Given the description of an element on the screen output the (x, y) to click on. 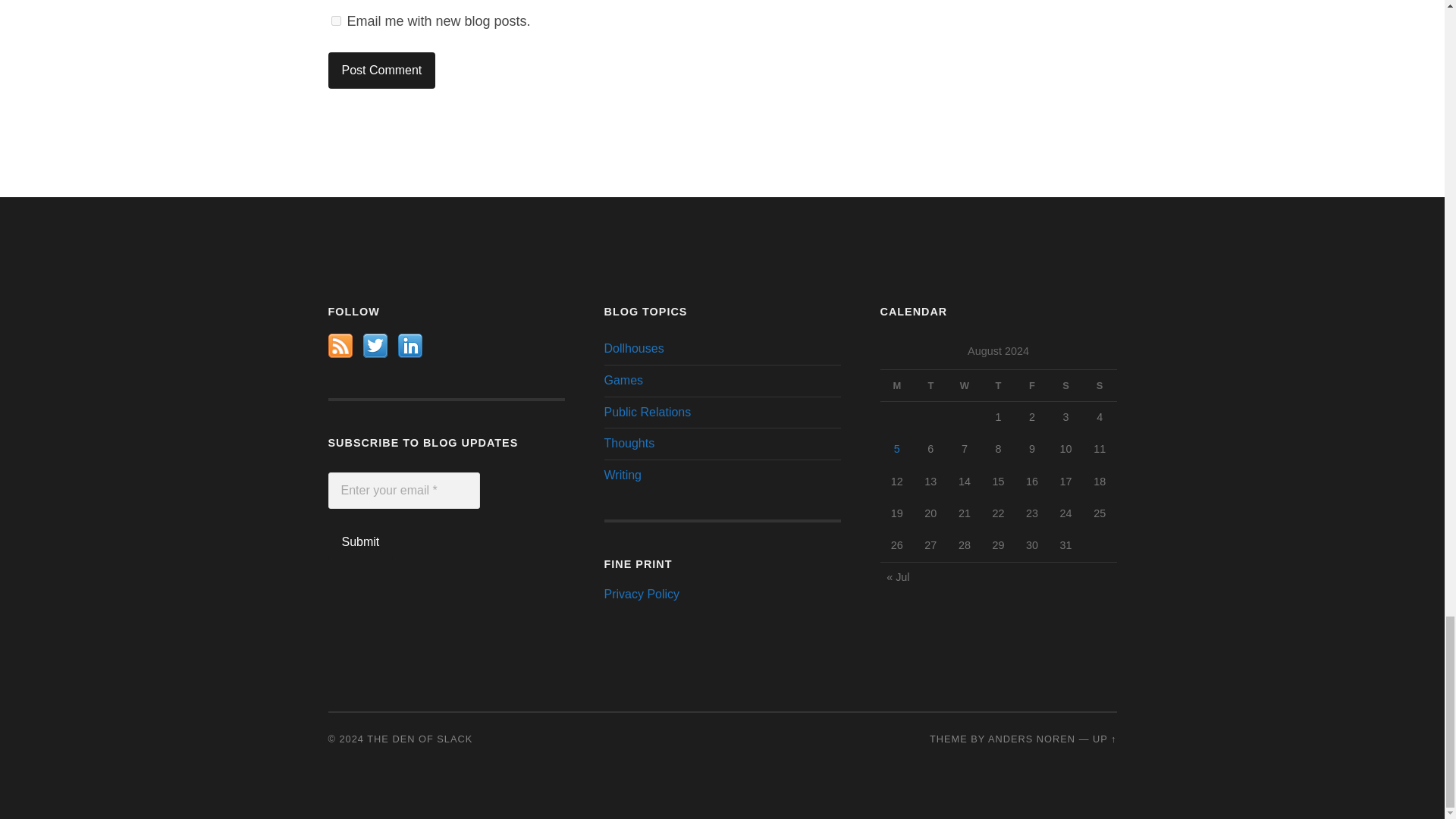
Wednesday (964, 385)
Enter your email (403, 490)
Saturday (1065, 385)
Thursday (997, 385)
Monday (896, 385)
Tuesday (930, 385)
1 (335, 20)
Post Comment (381, 70)
Post Comment (381, 70)
To the top (1104, 738)
